Given the description of an element on the screen output the (x, y) to click on. 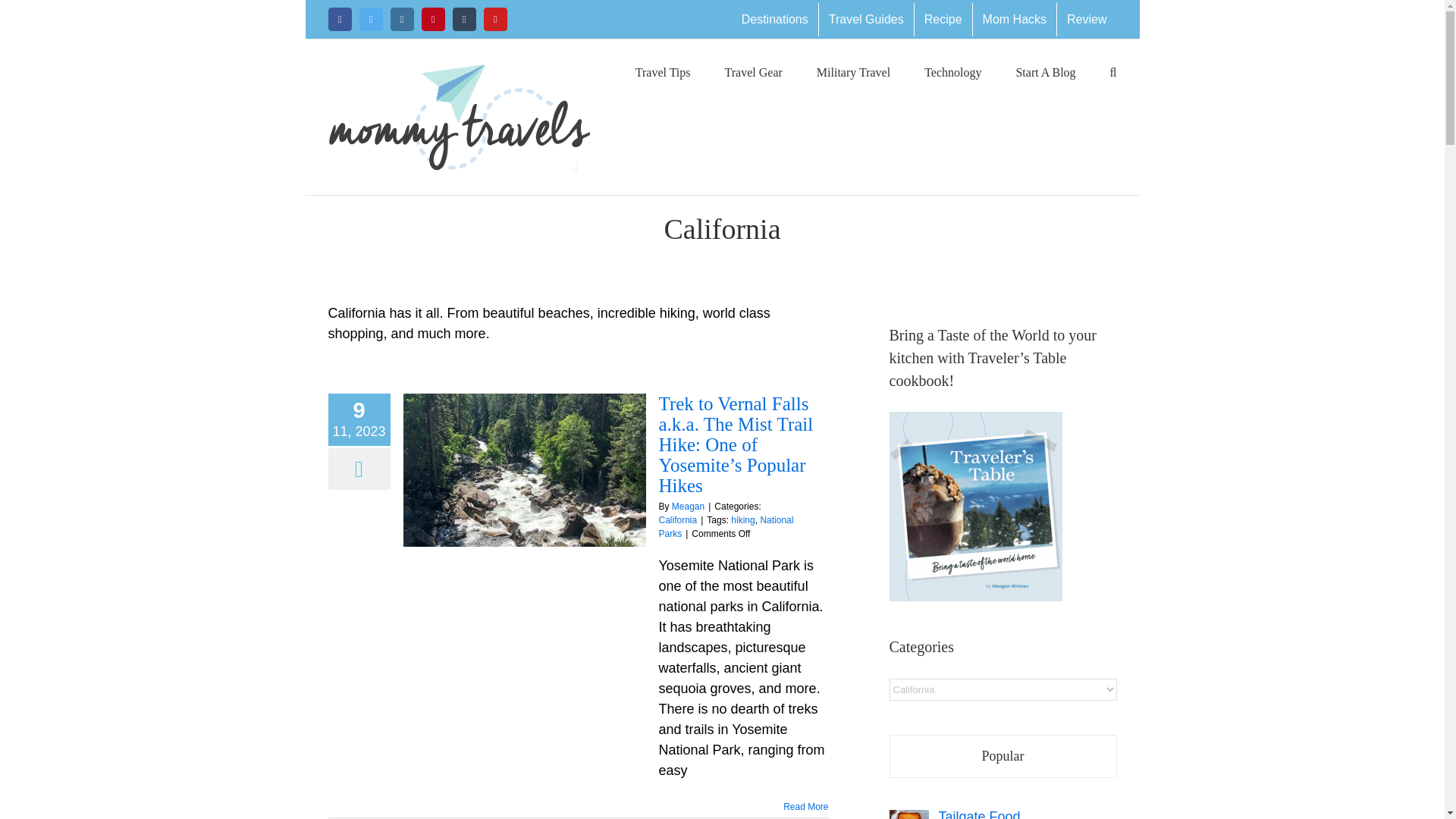
Pinterest (433, 19)
Tumblr (463, 19)
Pinterest (433, 19)
Posts by Meagan (687, 506)
Instagram (401, 19)
Facebook (338, 19)
Facebook (338, 19)
Twitter (370, 19)
Destinations (775, 19)
